Given the description of an element on the screen output the (x, y) to click on. 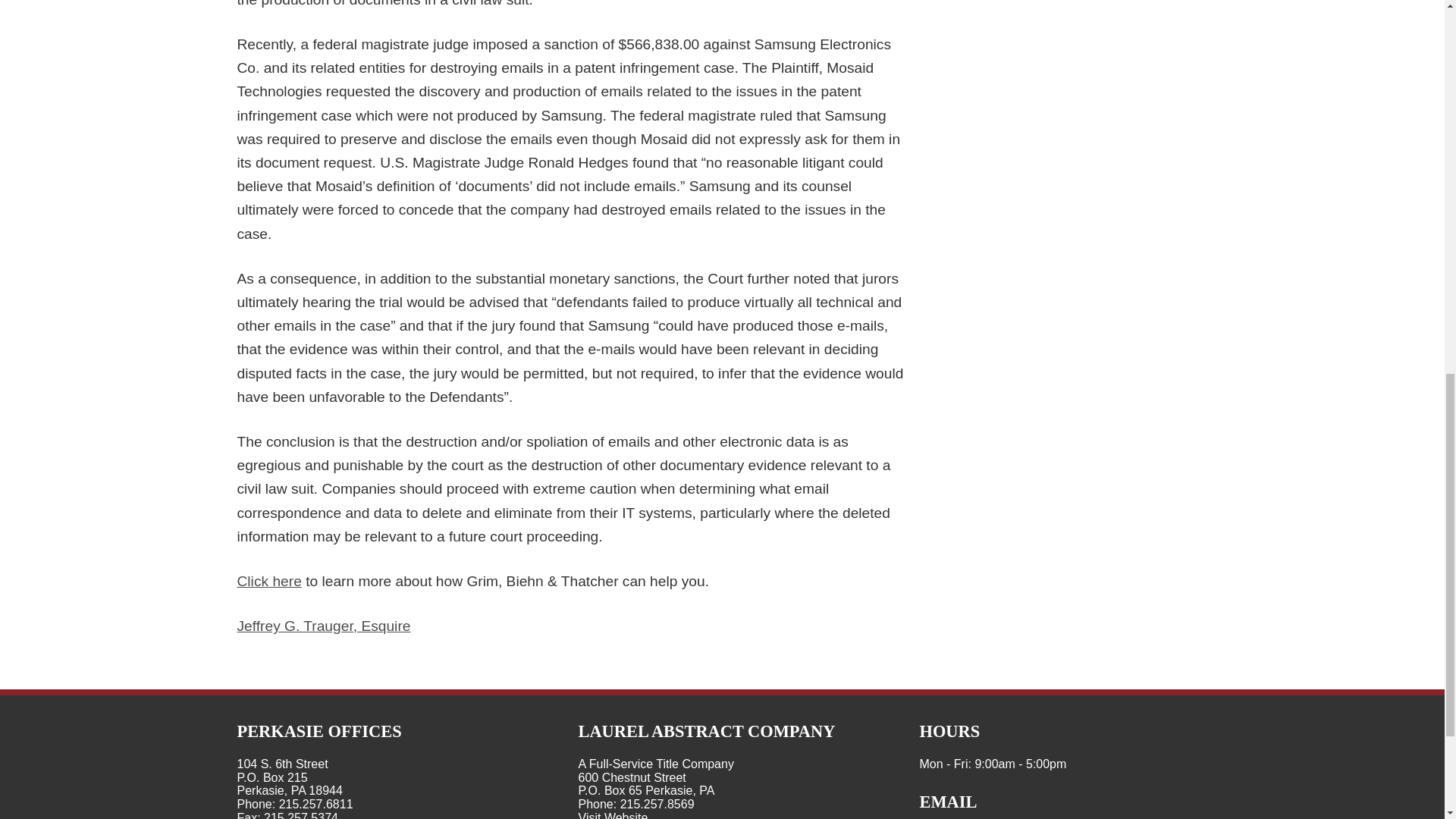
Visit Website (612, 815)
Jeffrey G. Trauger, Esquire (322, 625)
Click here (268, 580)
